Given the description of an element on the screen output the (x, y) to click on. 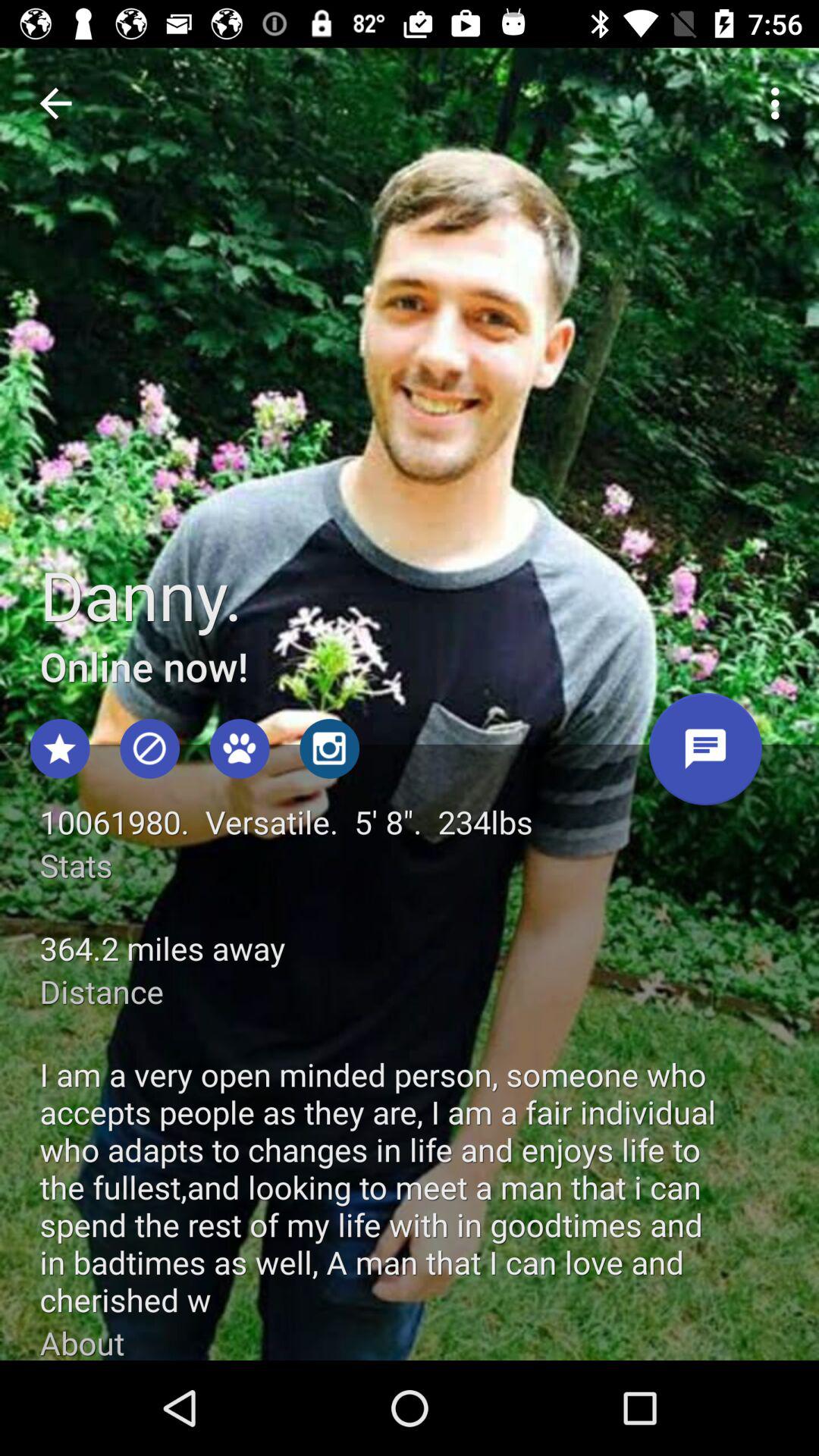
select the button with paw symbol (239, 748)
